Given the description of an element on the screen output the (x, y) to click on. 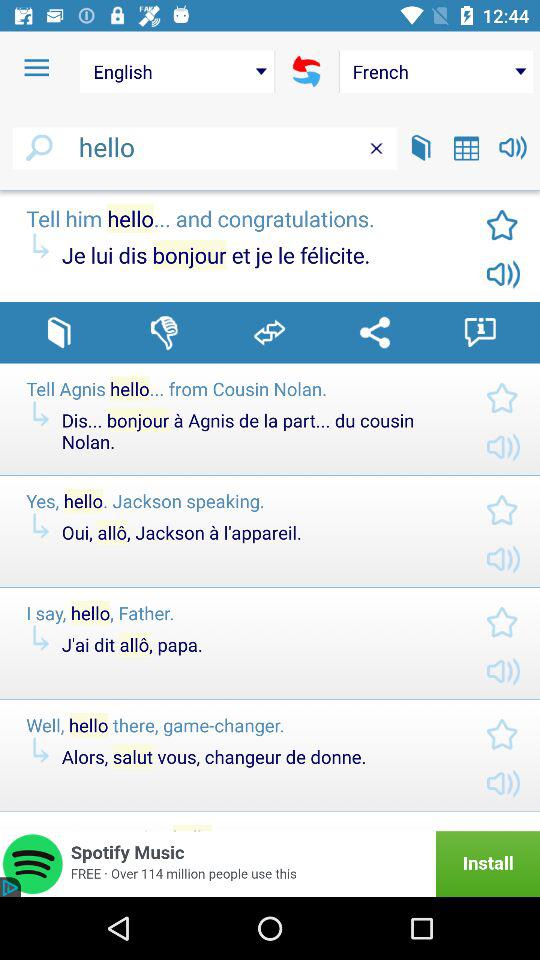
install (270, 864)
